Given the description of an element on the screen output the (x, y) to click on. 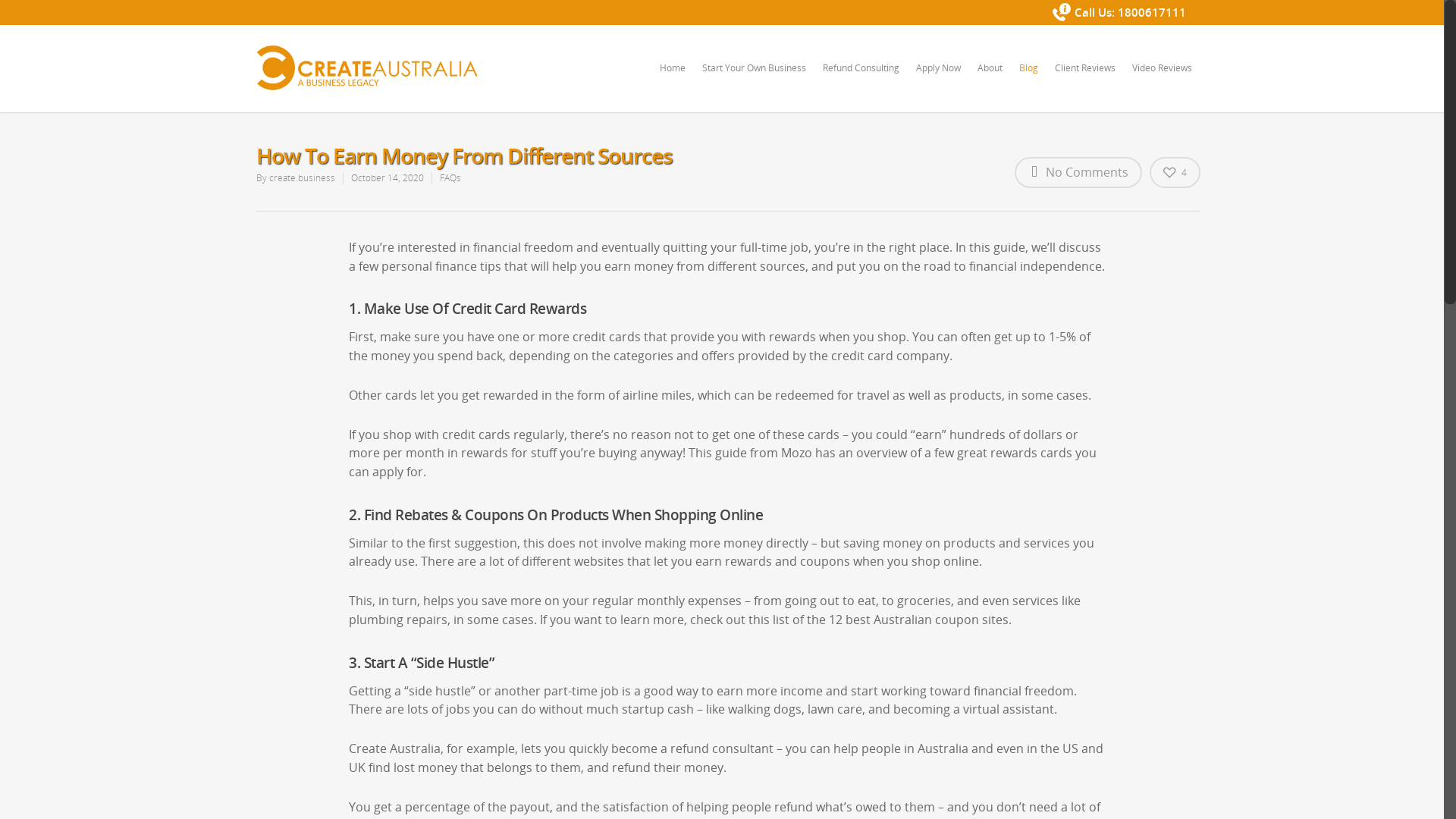
create.business Element type: text (301, 177)
No Comments Element type: text (1078, 172)
Call Us: 1800617111 Element type: text (1118, 12)
About Element type: text (989, 78)
Start Your Own Business Element type: text (753, 78)
Refund Consulting Element type: text (860, 78)
Video Reviews Element type: text (1160, 78)
Home Element type: text (672, 78)
Client Reviews Element type: text (1084, 78)
Create Business Australia Element type: text (328, 653)
Privacy Policy Element type: text (407, 635)
Here Element type: text (516, 598)
Apply Now Element type: text (938, 78)
4 Element type: text (1174, 171)
Blog Element type: text (1028, 78)
FAQs Element type: text (450, 177)
Terms & Conditions Element type: text (307, 635)
